Given the description of an element on the screen output the (x, y) to click on. 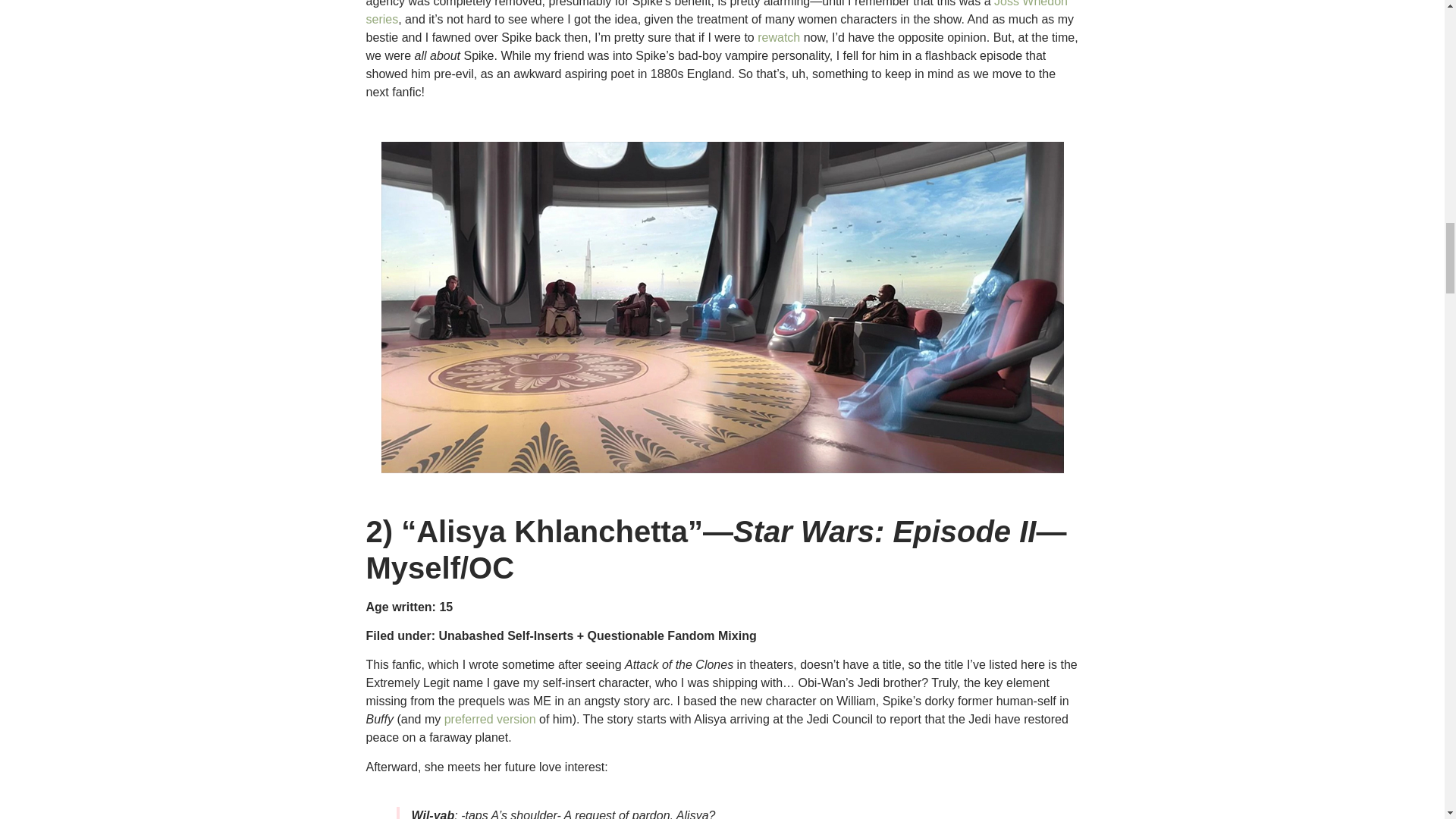
preferred version (489, 718)
rewatch (778, 37)
Joss Whedon series (716, 12)
